Given the description of an element on the screen output the (x, y) to click on. 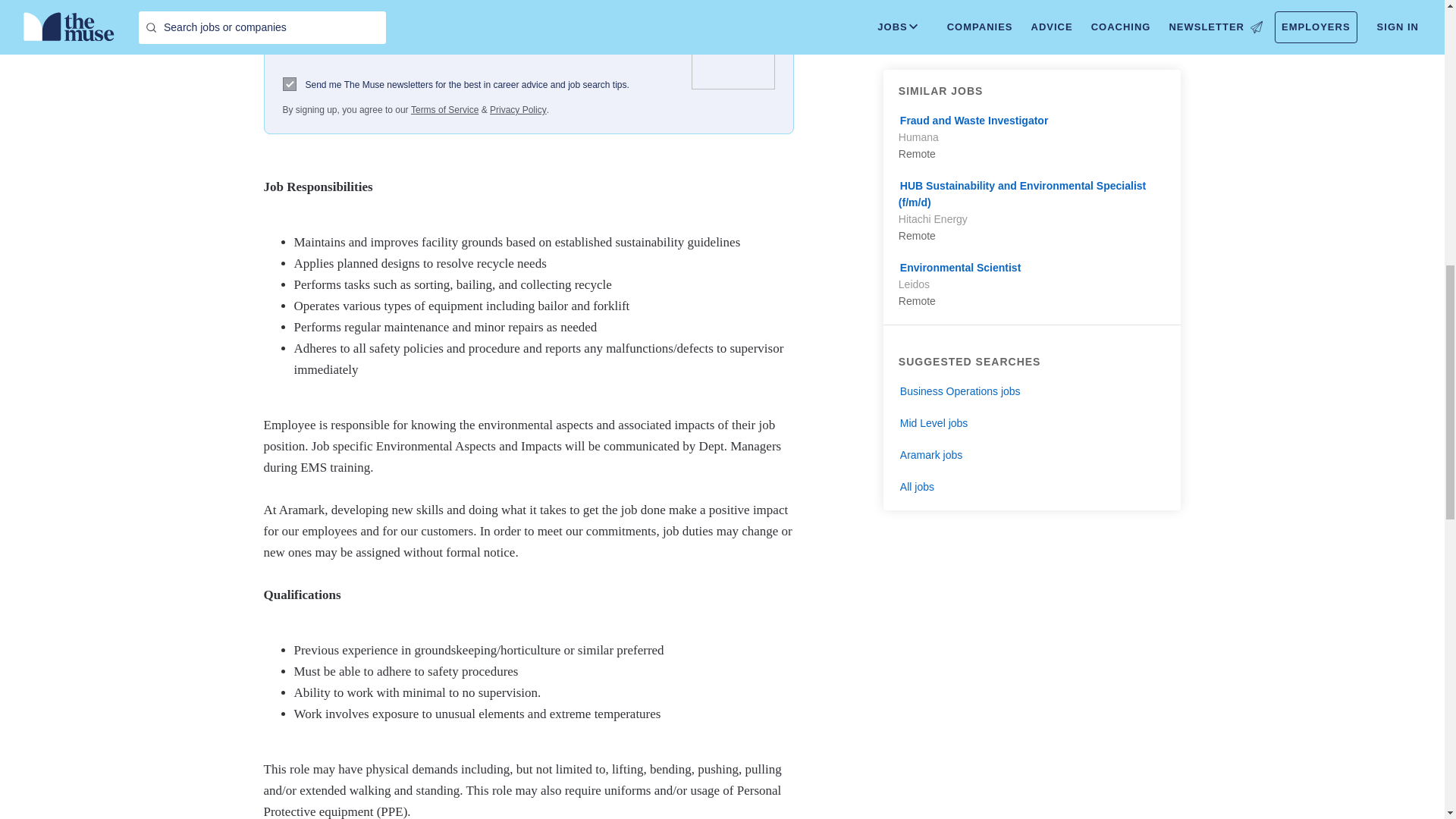
Terms of Service (444, 109)
GET JOBS (618, 37)
